Given the description of an element on the screen output the (x, y) to click on. 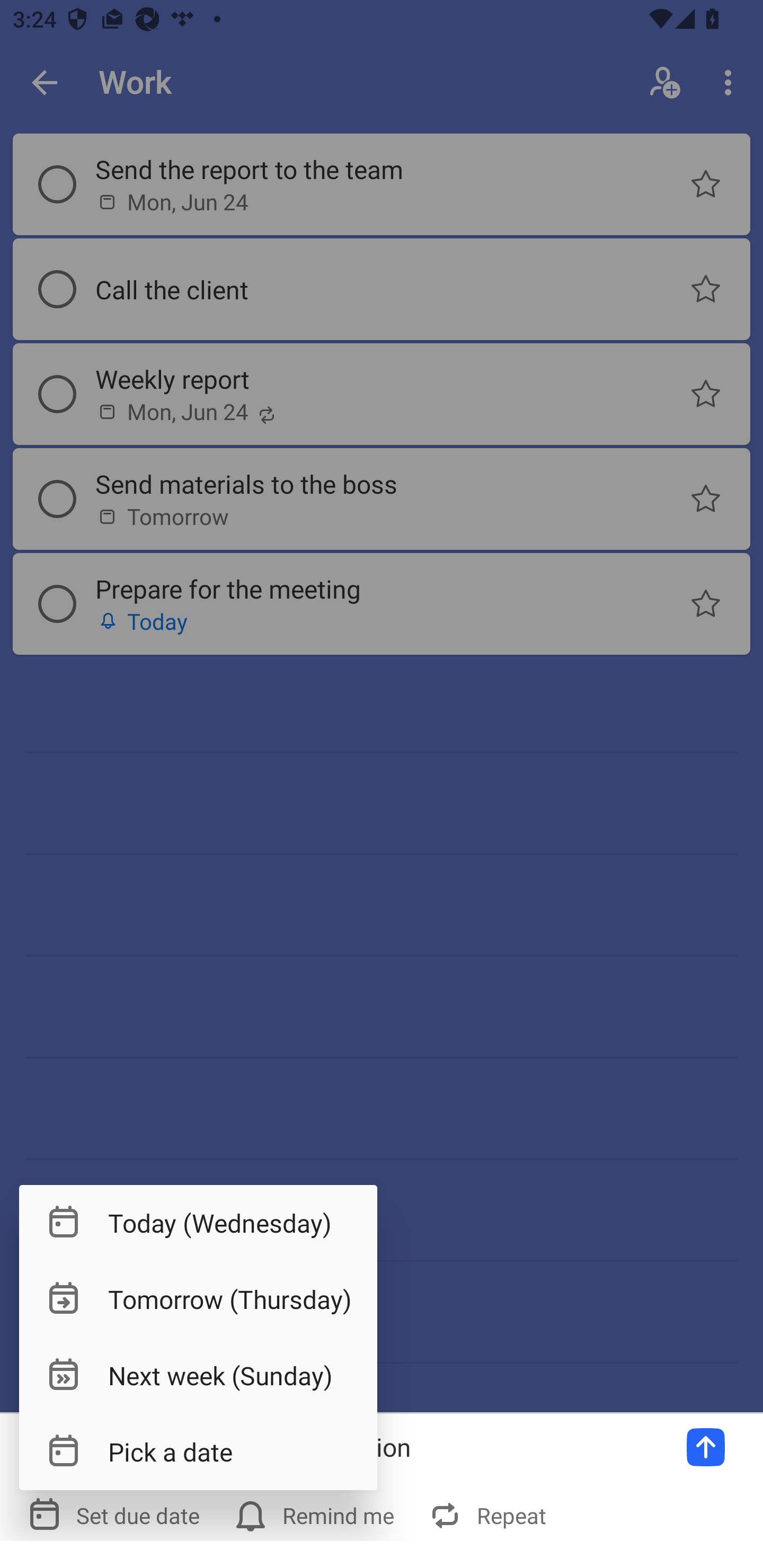
Pick a date4 in 4 Pick a date (197, 1451)
